Given the description of an element on the screen output the (x, y) to click on. 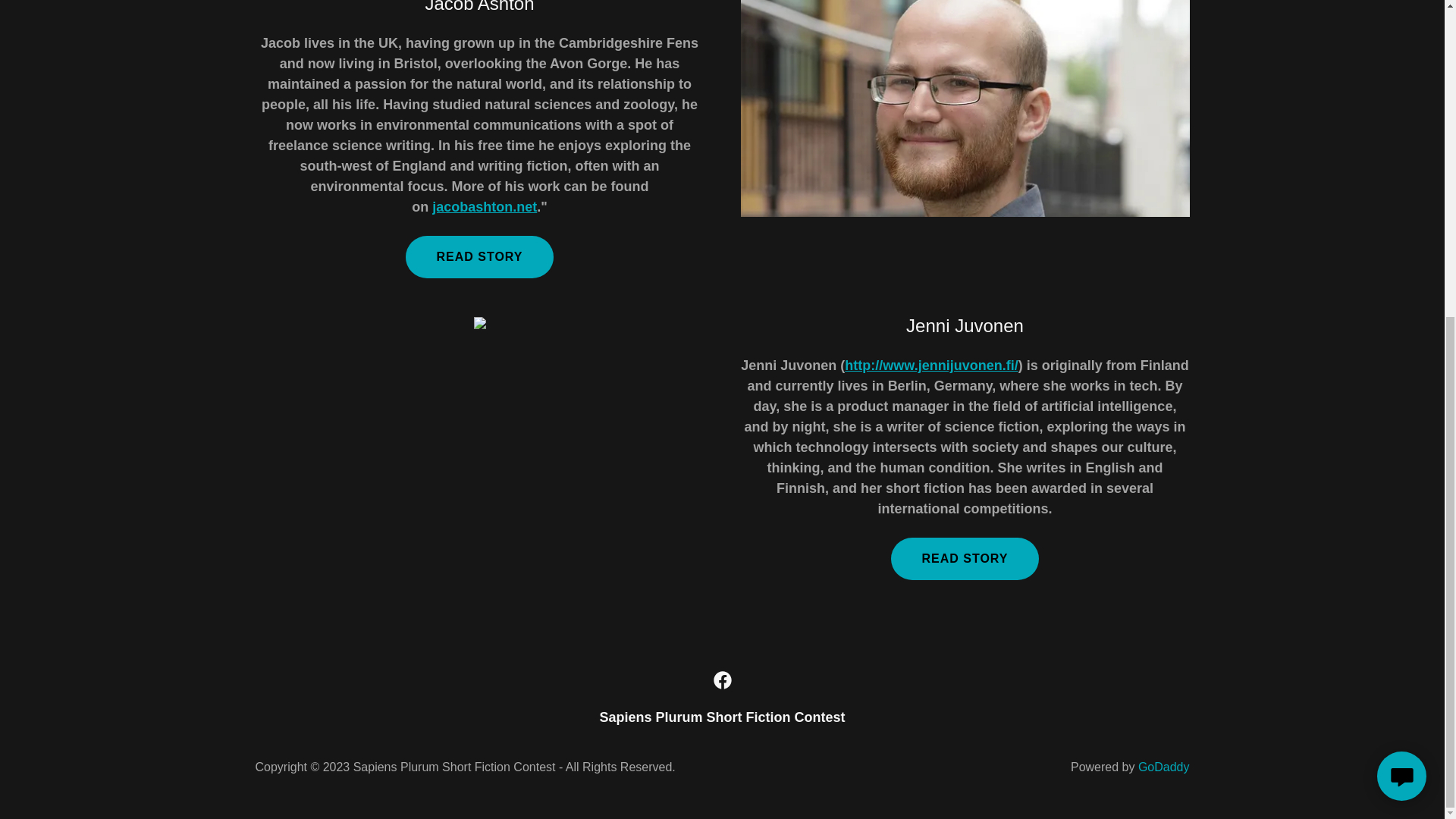
READ STORY (964, 558)
READ STORY (479, 256)
GoDaddy (1163, 766)
jacobashton.net (484, 206)
